Given the description of an element on the screen output the (x, y) to click on. 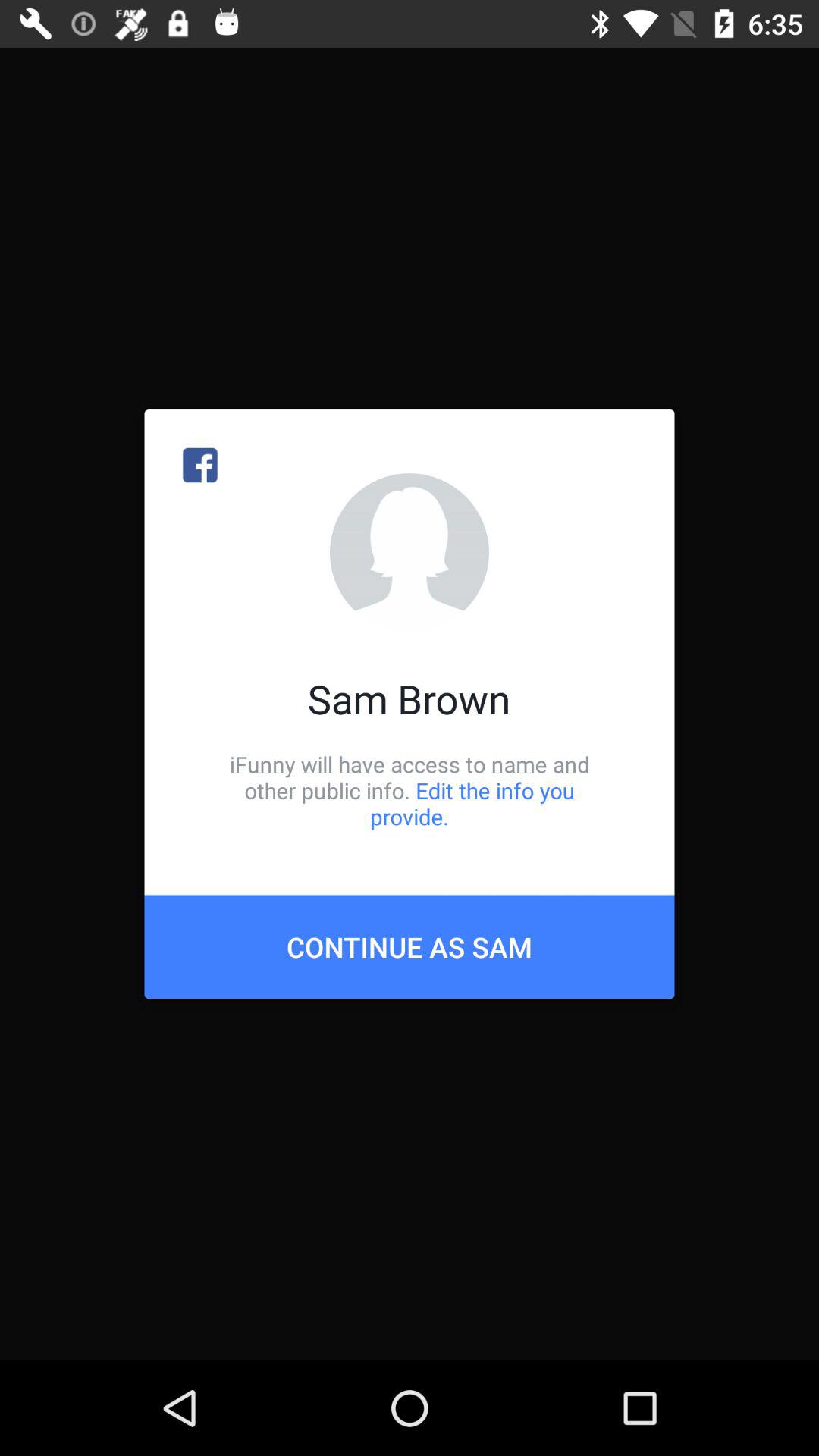
flip until the continue as sam icon (409, 946)
